Given the description of an element on the screen output the (x, y) to click on. 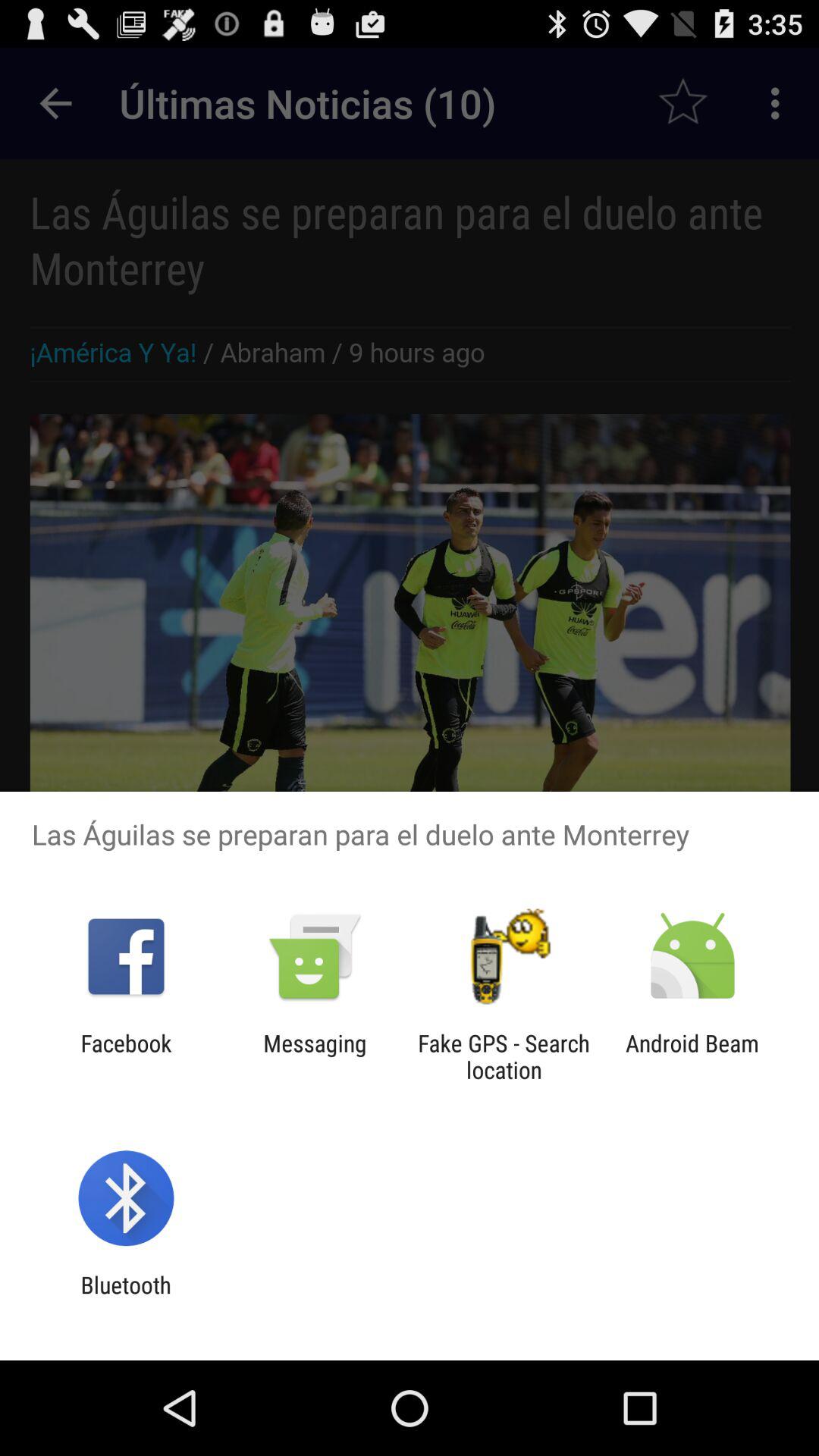
launch the icon next to fake gps search icon (692, 1056)
